Given the description of an element on the screen output the (x, y) to click on. 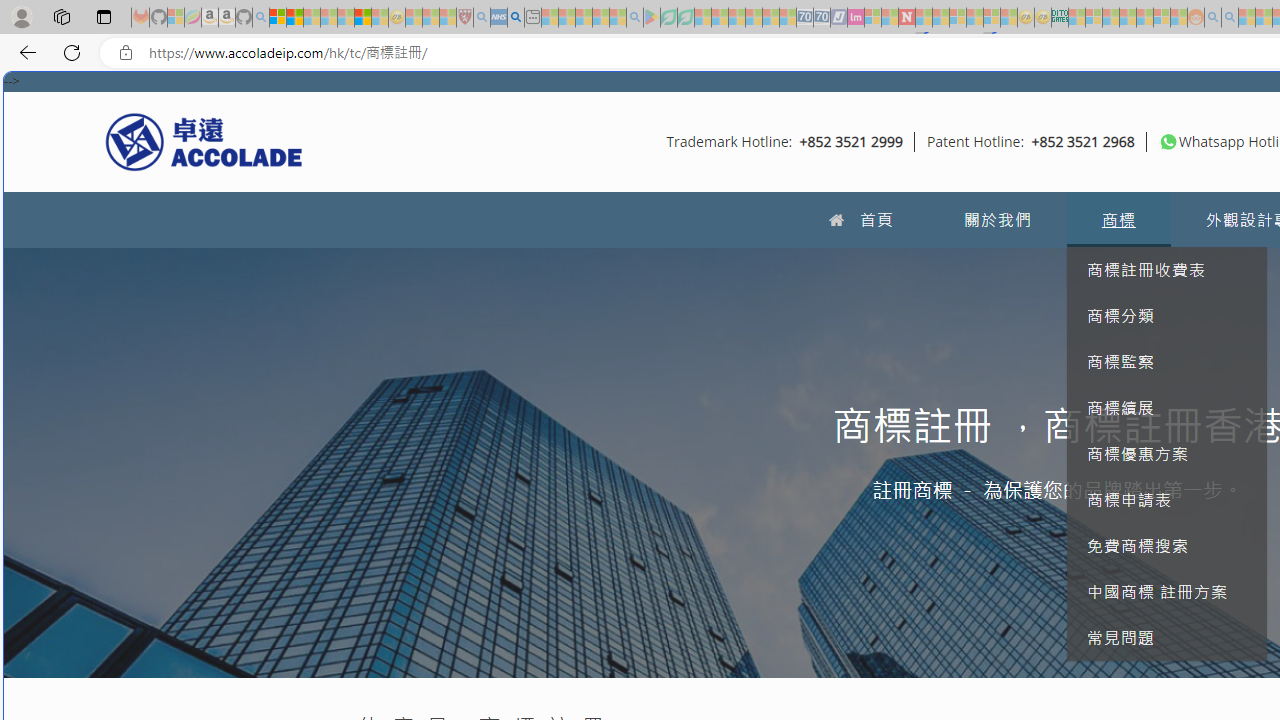
The Weather Channel - MSN - Sleeping (311, 17)
MSNBC - MSN - Sleeping (1076, 17)
Accolade IP HK Logo (203, 141)
Microsoft account | Privacy - Sleeping (1093, 17)
